Given the description of an element on the screen output the (x, y) to click on. 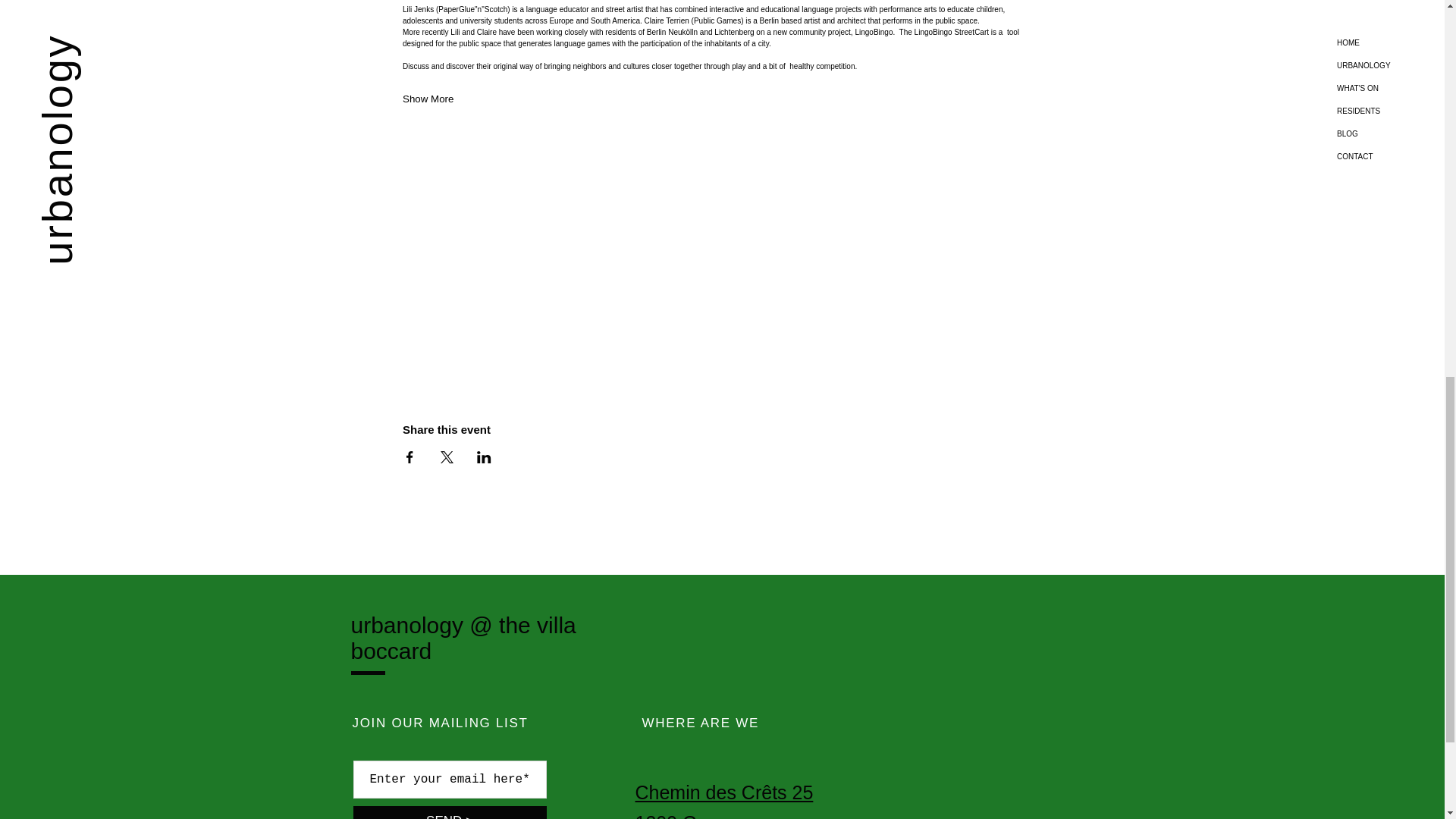
Show More (427, 99)
1209 Geneva (691, 815)
